Given the description of an element on the screen output the (x, y) to click on. 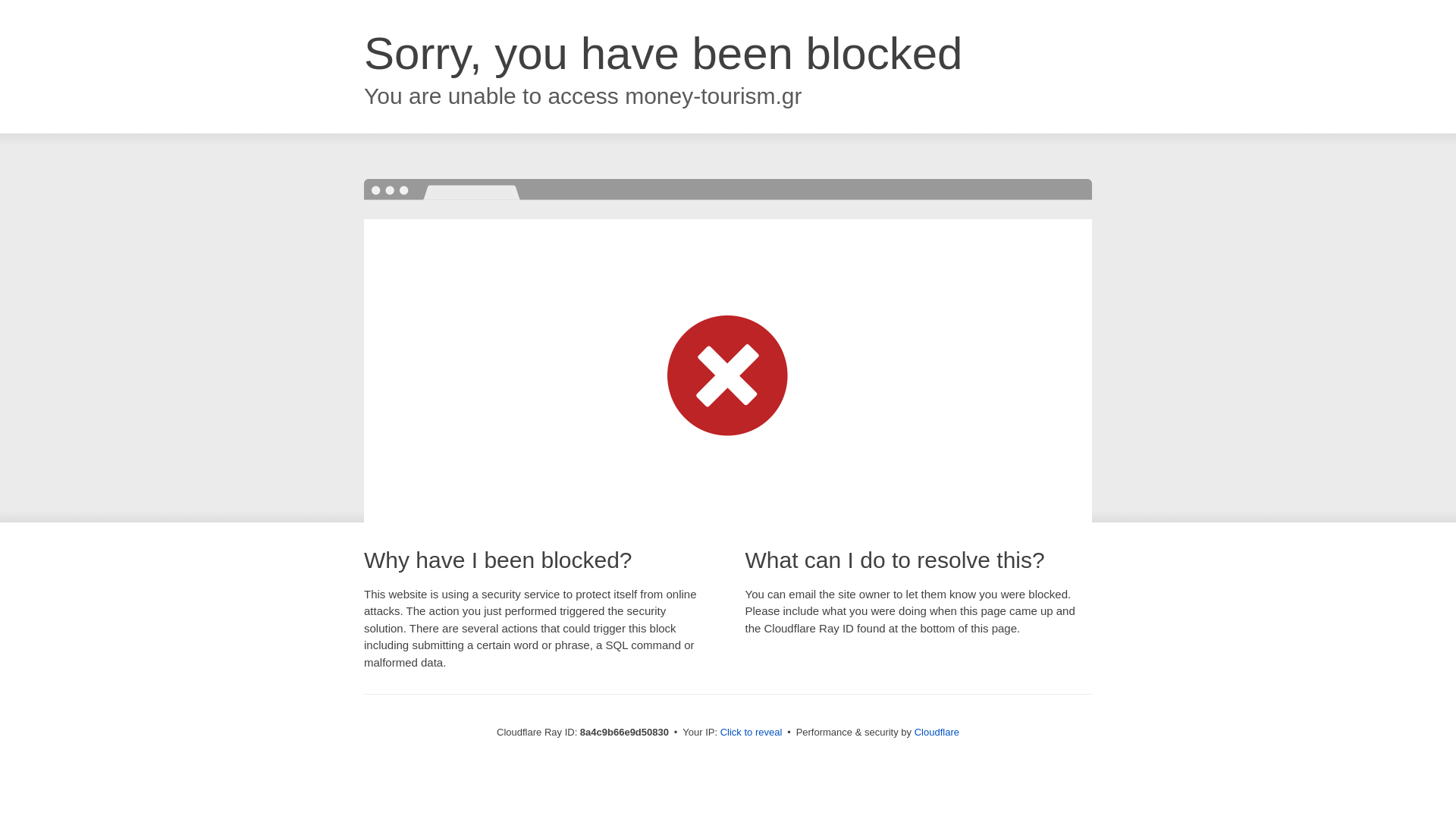
Click to reveal (751, 732)
Cloudflare (936, 731)
